Given the description of an element on the screen output the (x, y) to click on. 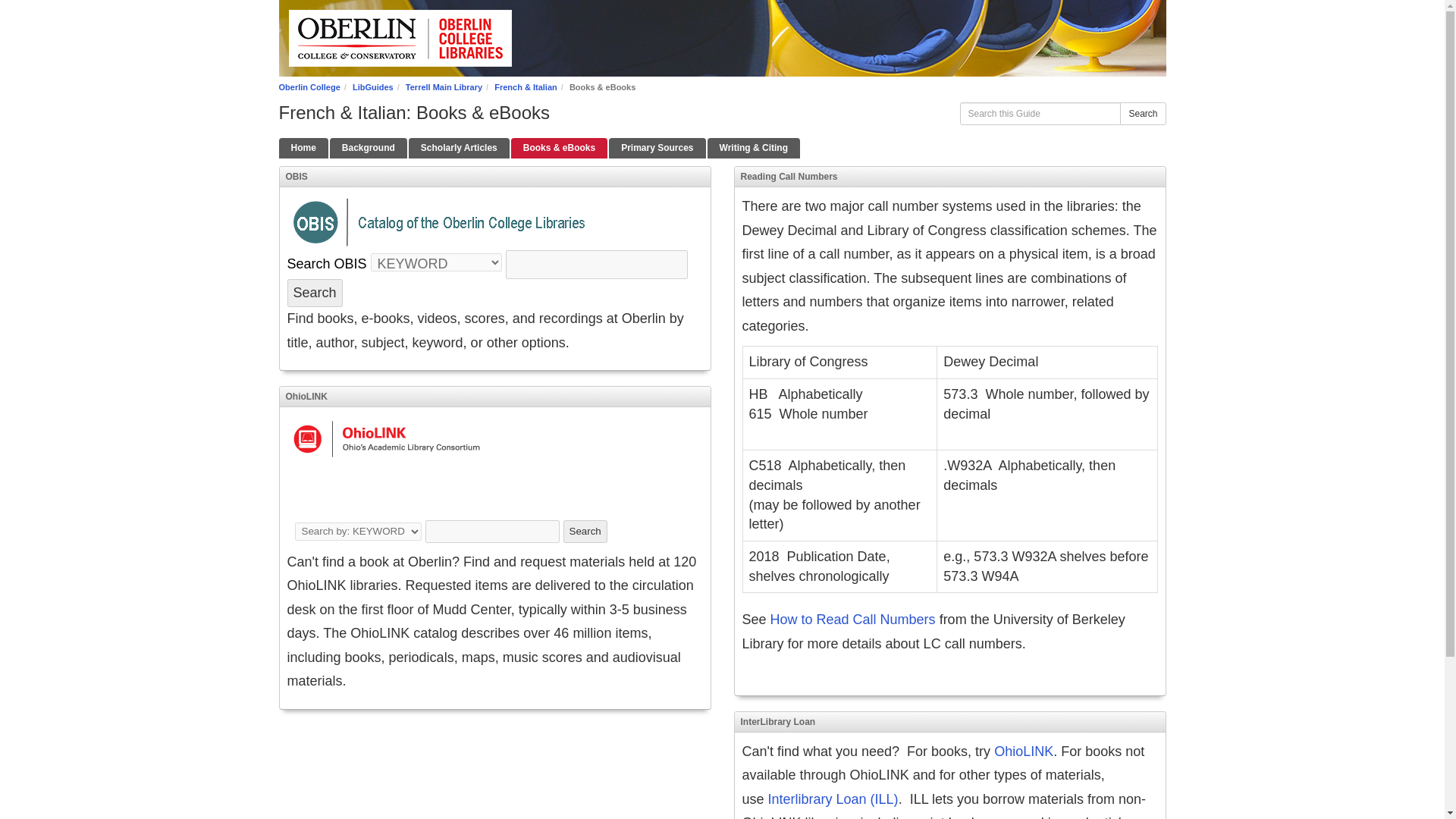
Search OBIS (326, 263)
Search (585, 531)
How to Read Call Numbers (853, 619)
LibGuides (372, 86)
Search (1142, 113)
Search (314, 293)
Scholarly Articles (459, 148)
Search (314, 293)
Home (304, 148)
Oberlin College (309, 86)
OBIS: Catalog of the Oberlin Library (326, 263)
OhioLINK (1023, 751)
Background (368, 148)
Primary Sources (656, 148)
Terrell Main Library (443, 86)
